Given the description of an element on the screen output the (x, y) to click on. 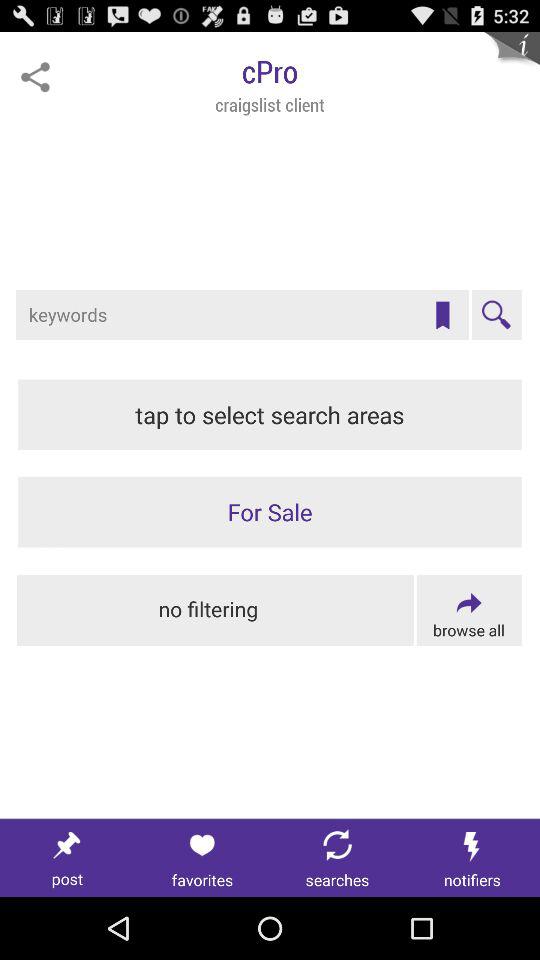
bookmark (442, 315)
